Given the description of an element on the screen output the (x, y) to click on. 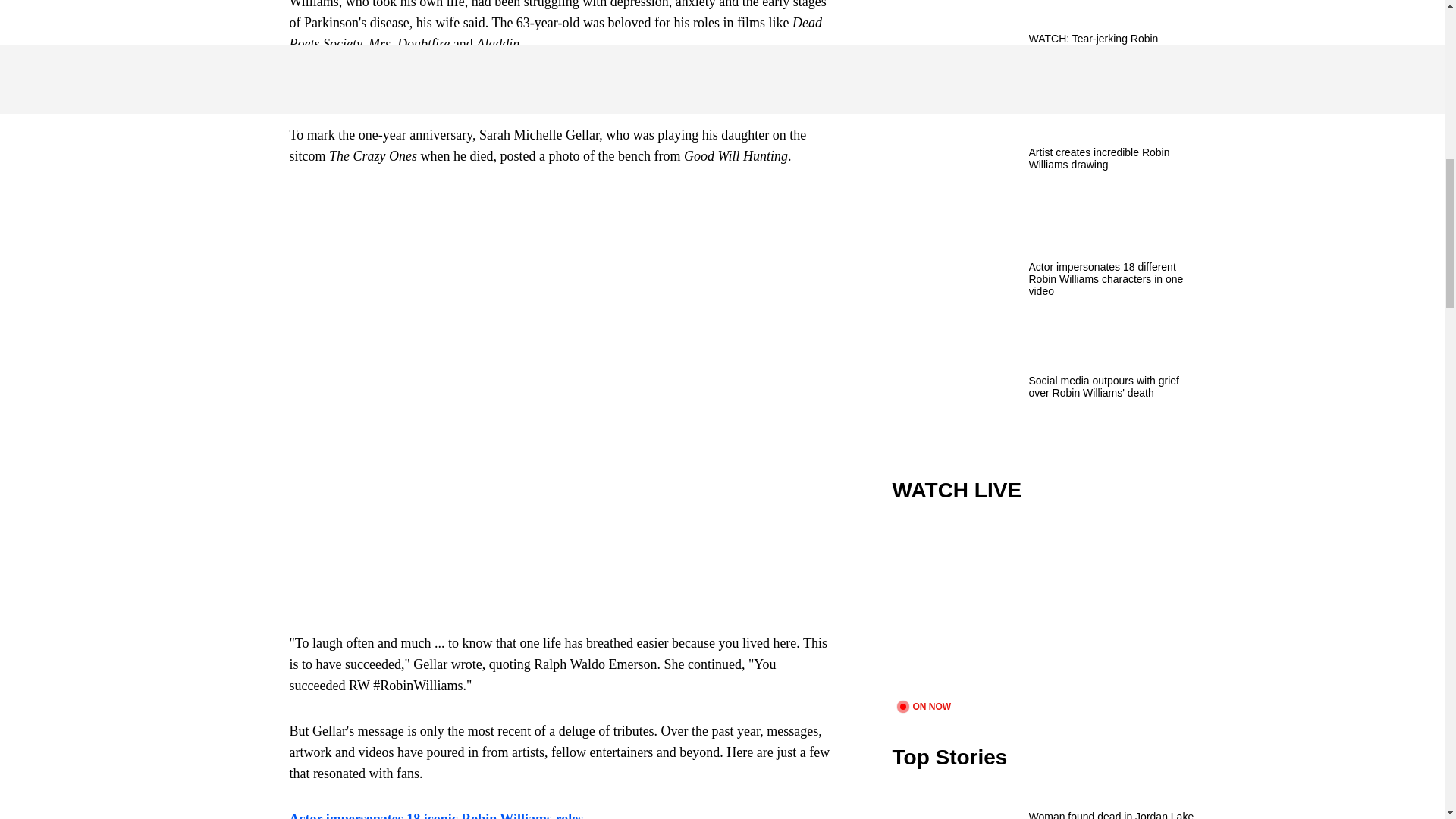
video.title (1043, 610)
